Given the description of an element on the screen output the (x, y) to click on. 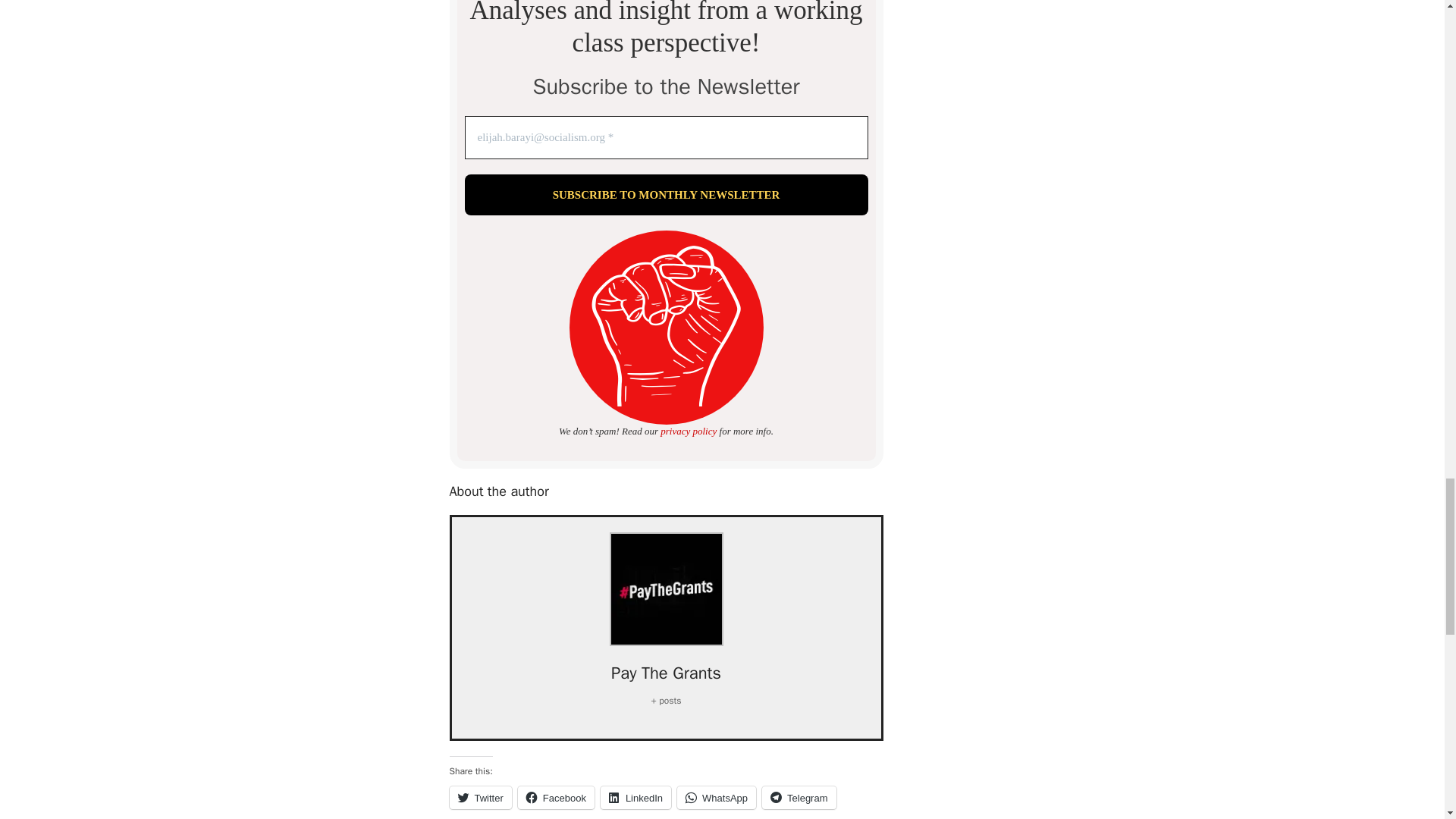
Click to share on Facebook (556, 797)
SUBSCRIBE TO MONTHLY NEWSLETTER (665, 195)
Click to share on Twitter (479, 797)
Click to share on WhatsApp (716, 797)
SUBSCRIBE TO MONTHLY NEWSLETTER (665, 195)
Facebook (556, 797)
privacy policy (688, 430)
LinkedIn (635, 797)
Click to share on Telegram (798, 797)
Click to share on LinkedIn (635, 797)
